Given the description of an element on the screen output the (x, y) to click on. 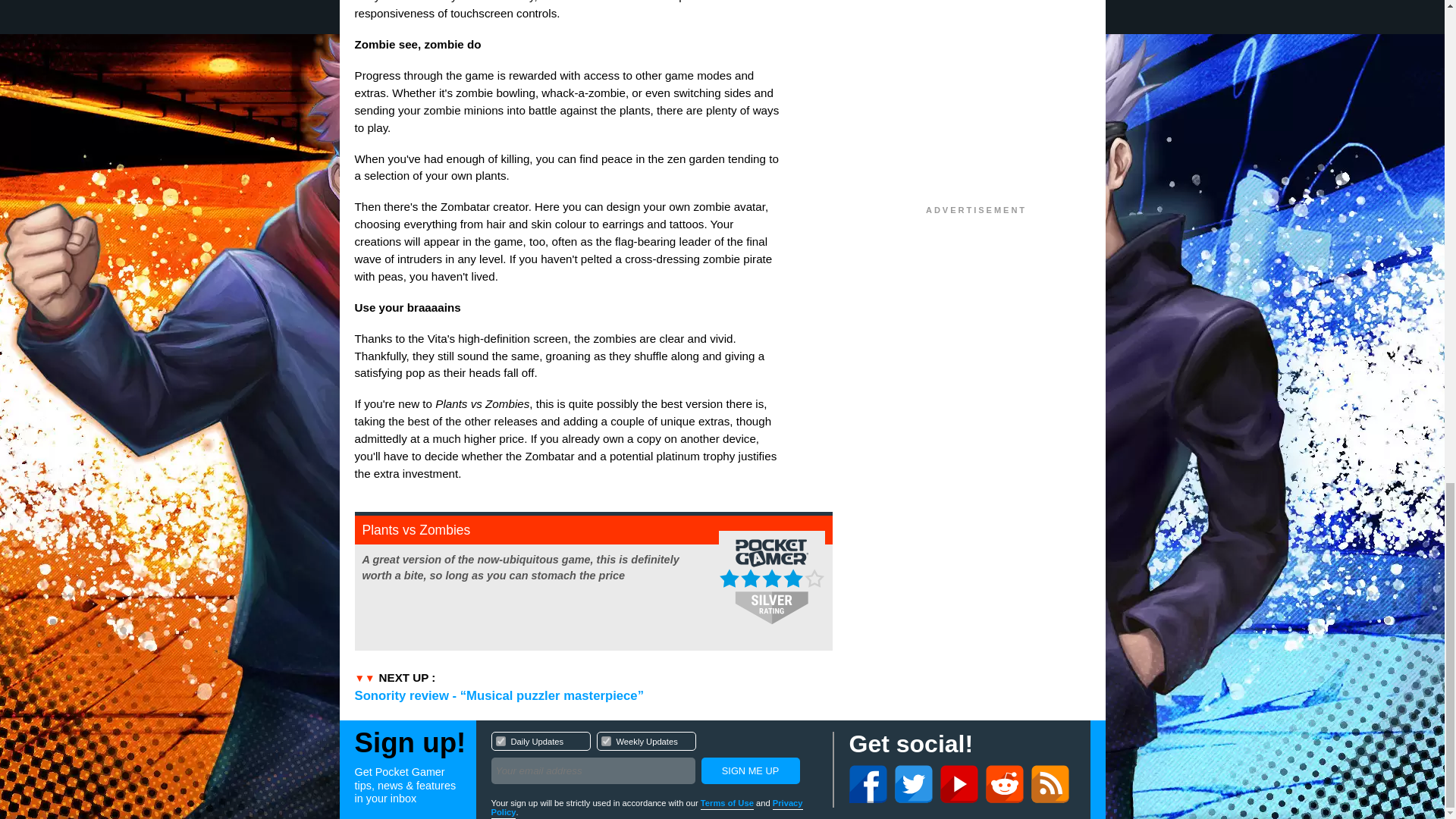
1 (654, 759)
2 (500, 741)
Sign Me Up (604, 741)
